Given the description of an element on the screen output the (x, y) to click on. 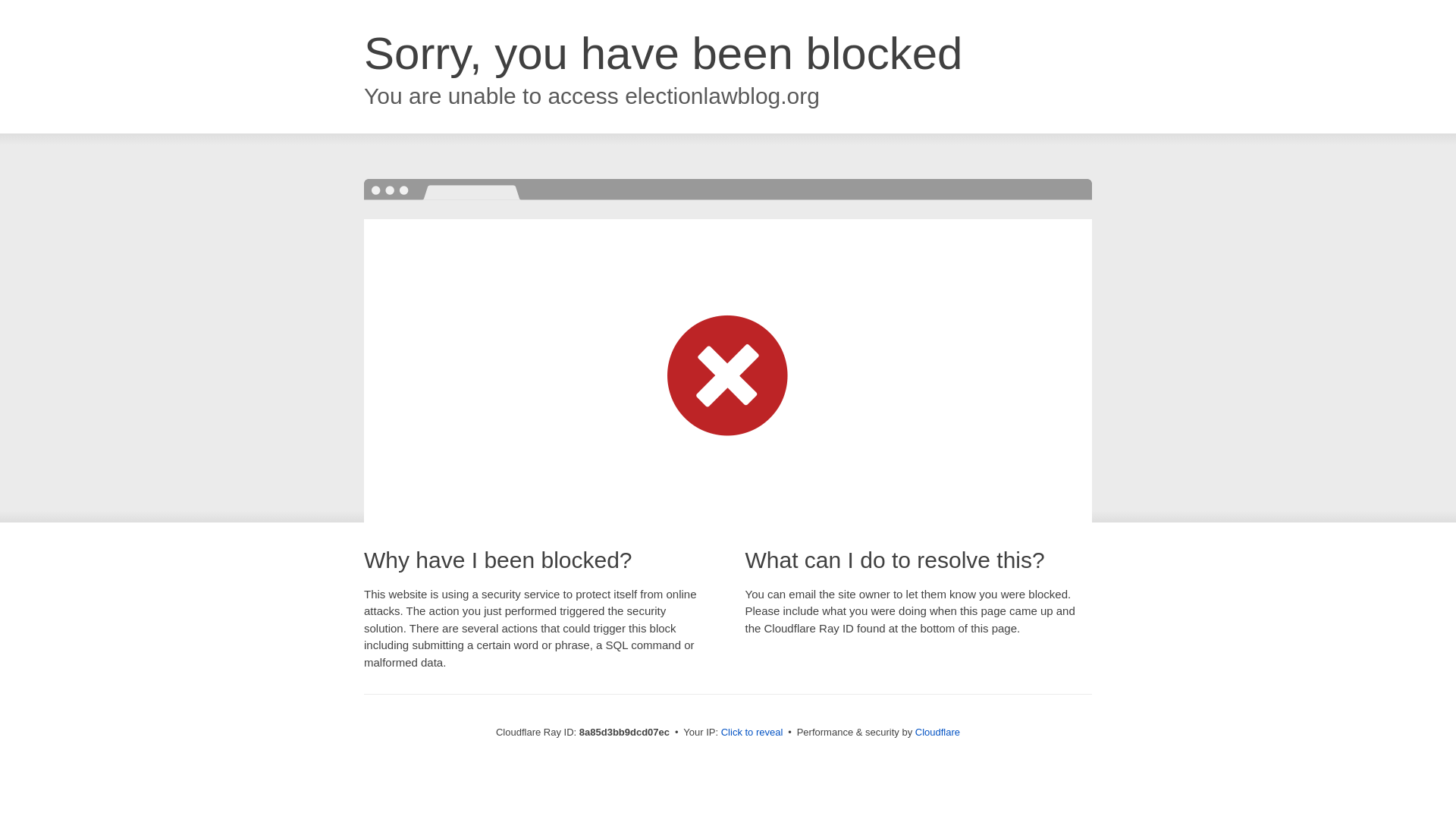
Cloudflare (937, 731)
Click to reveal (751, 732)
